Given the description of an element on the screen output the (x, y) to click on. 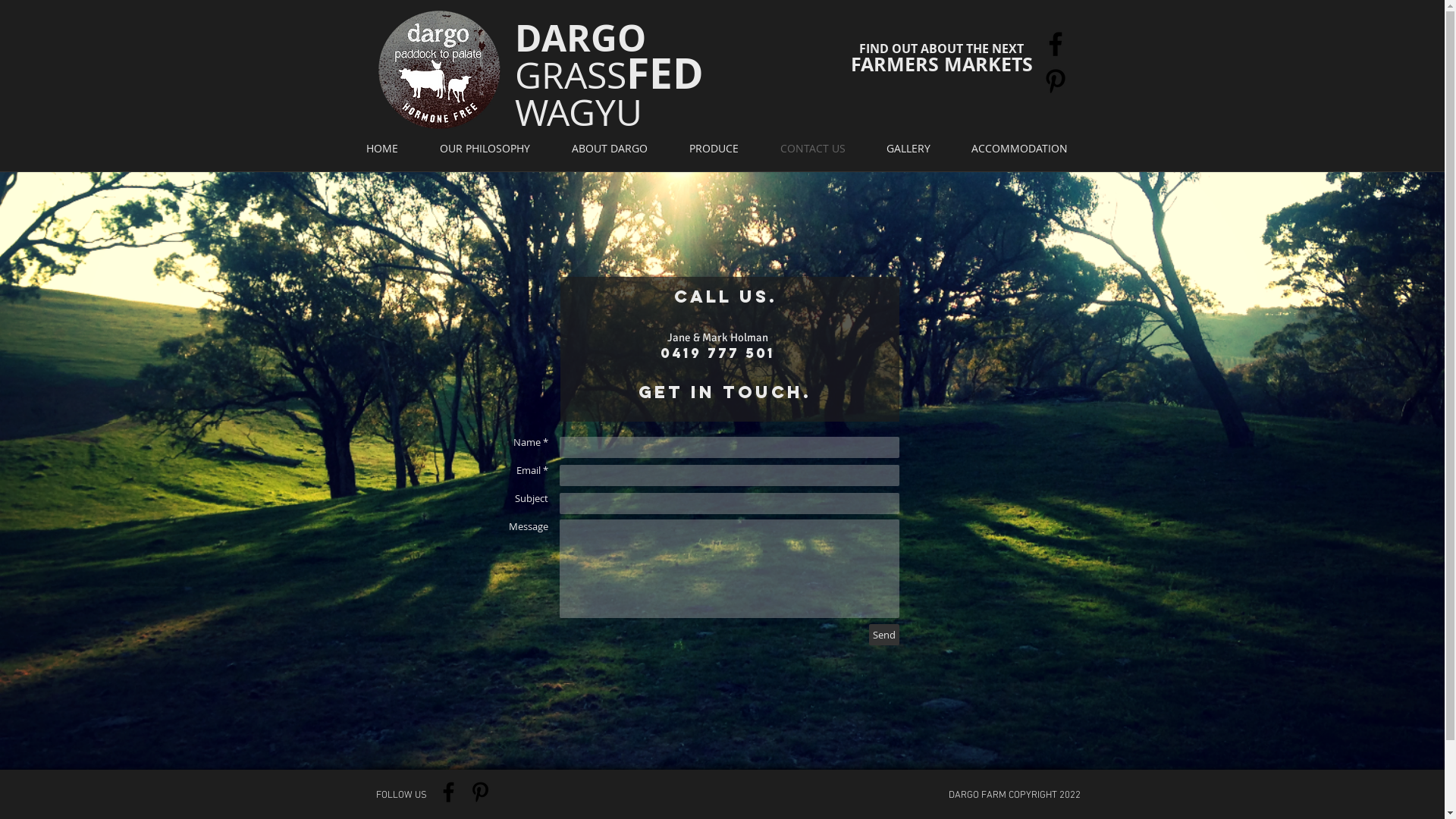
OUR PHILOSOPHY Element type: text (490, 147)
Send Element type: text (884, 634)
PRODUCE Element type: text (718, 147)
ACCOMMODATION Element type: text (1023, 147)
GALLERY Element type: text (912, 147)
ABOUT DARGO Element type: text (615, 147)
HOME Element type: text (386, 147)
CONTACT US Element type: text (817, 147)
